Given the description of an element on the screen output the (x, y) to click on. 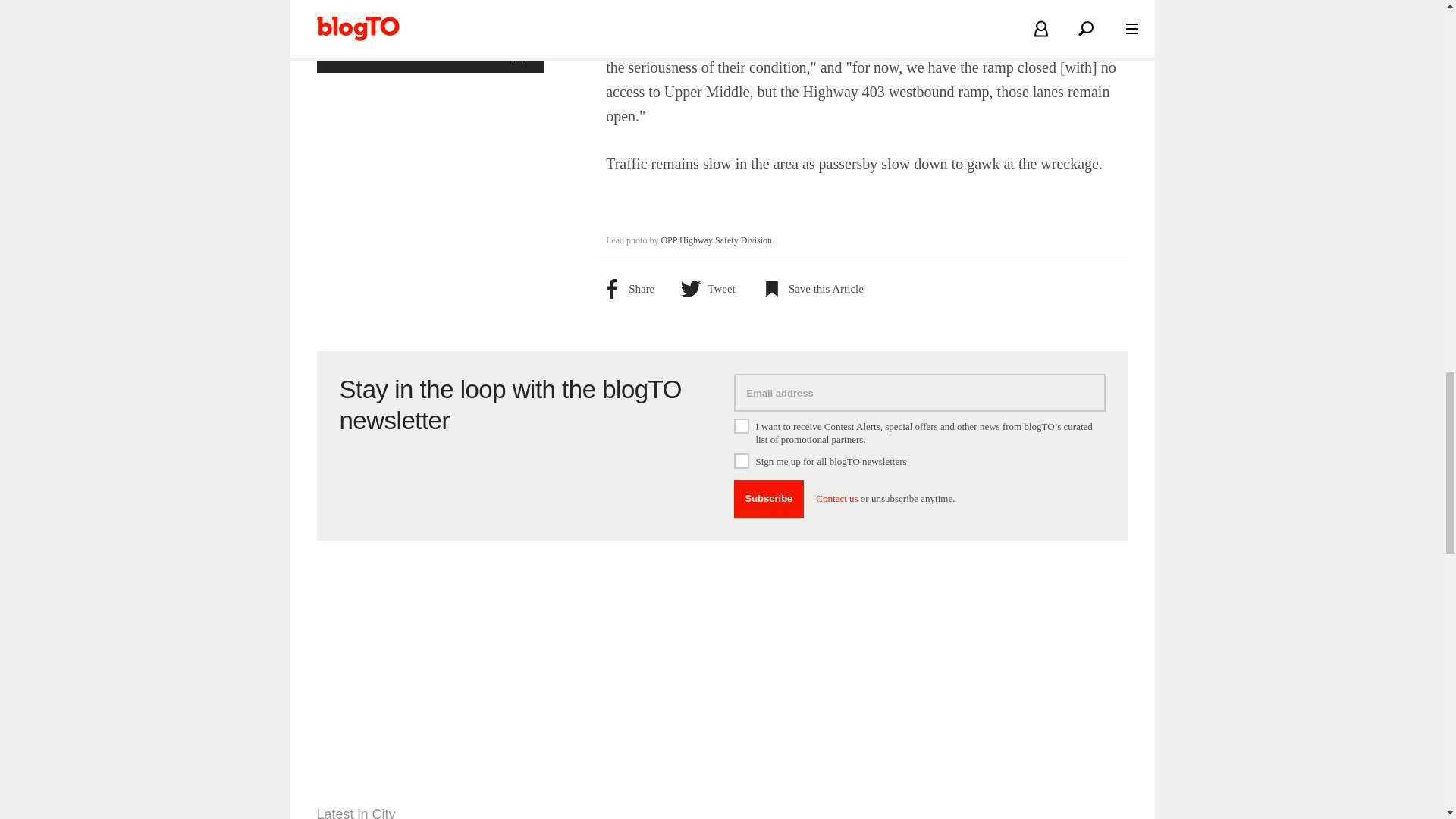
Subscribe (769, 498)
